Given the description of an element on the screen output the (x, y) to click on. 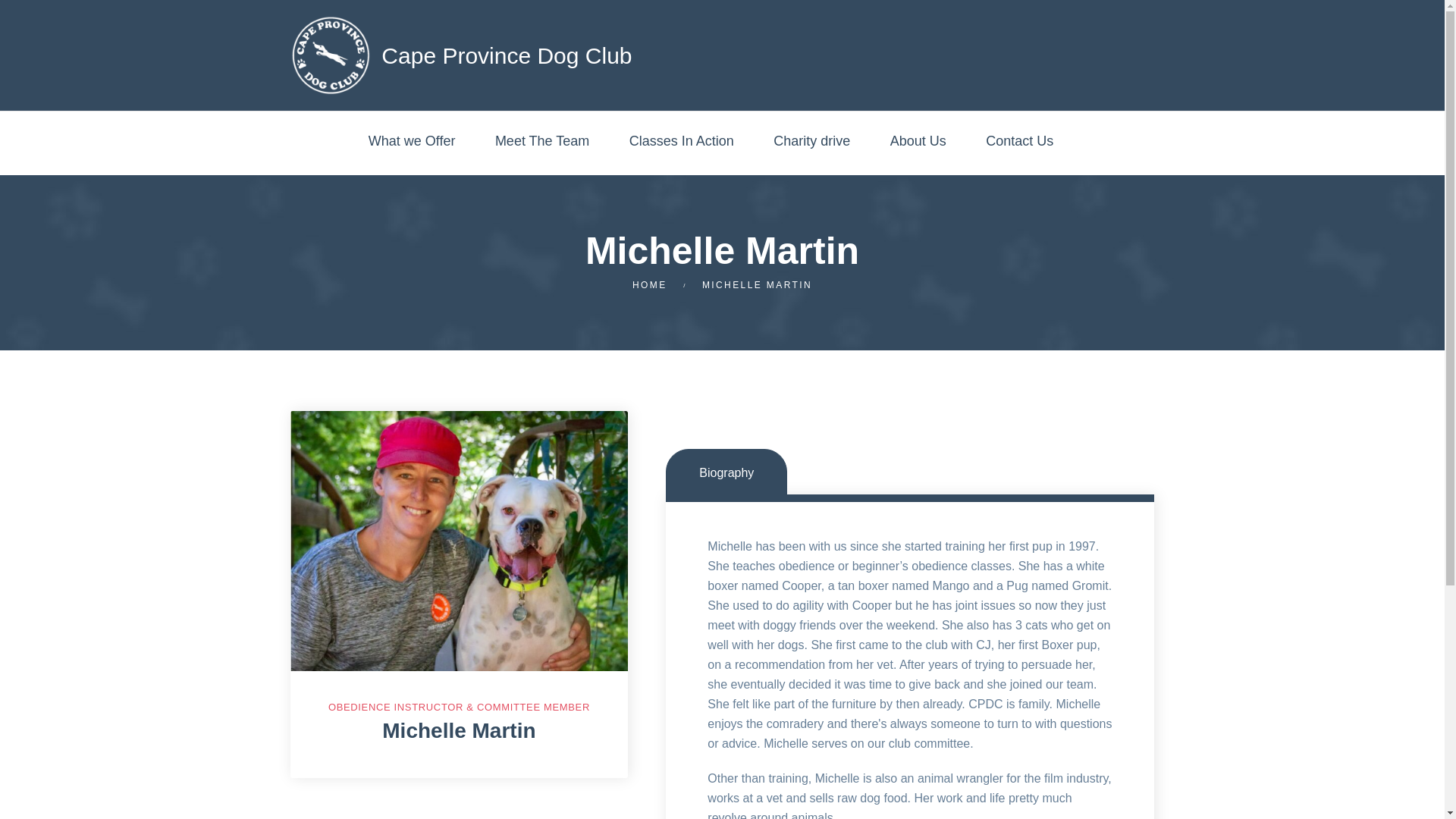
Classes In Action (680, 142)
Charity drive (811, 142)
Cape Province Dog Club (424, 55)
Meet The Team (542, 142)
HOME (648, 285)
Biography (726, 472)
What we Offer (411, 142)
Contact Us (1018, 142)
